Given the description of an element on the screen output the (x, y) to click on. 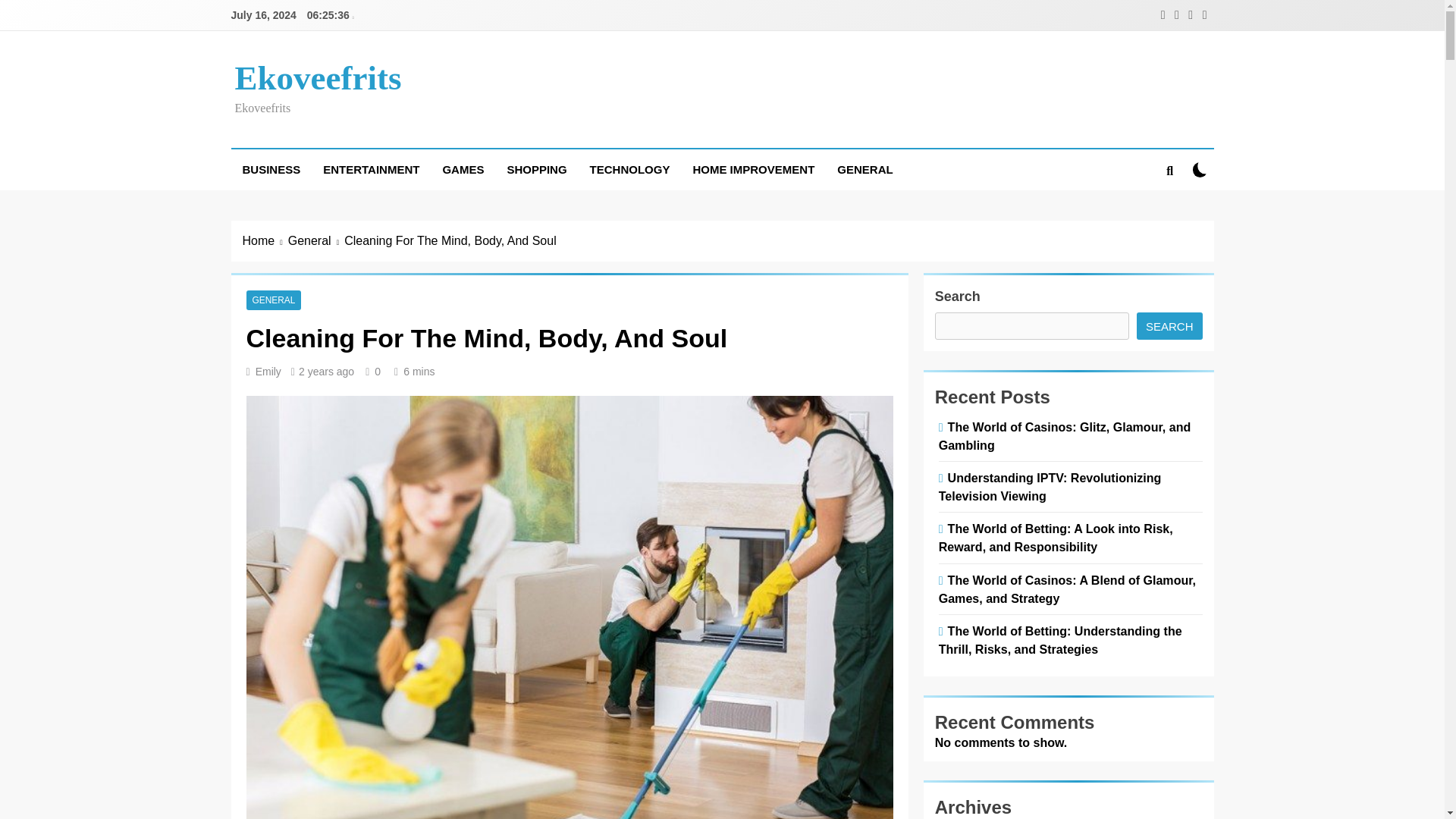
Understanding IPTV: Revolutionizing Television Viewing (1050, 486)
General (315, 240)
HOME IMPROVEMENT (753, 169)
Ekoveefrits (317, 77)
SHOPPING (536, 169)
GENERAL (273, 299)
Home (265, 240)
2 years ago (325, 371)
GAMES (462, 169)
Emily (268, 371)
BUSINESS (270, 169)
The World of Casinos: Glitz, Glamour, and Gambling (1065, 436)
ENTERTAINMENT (370, 169)
SEARCH (1169, 325)
TECHNOLOGY (629, 169)
